Given the description of an element on the screen output the (x, y) to click on. 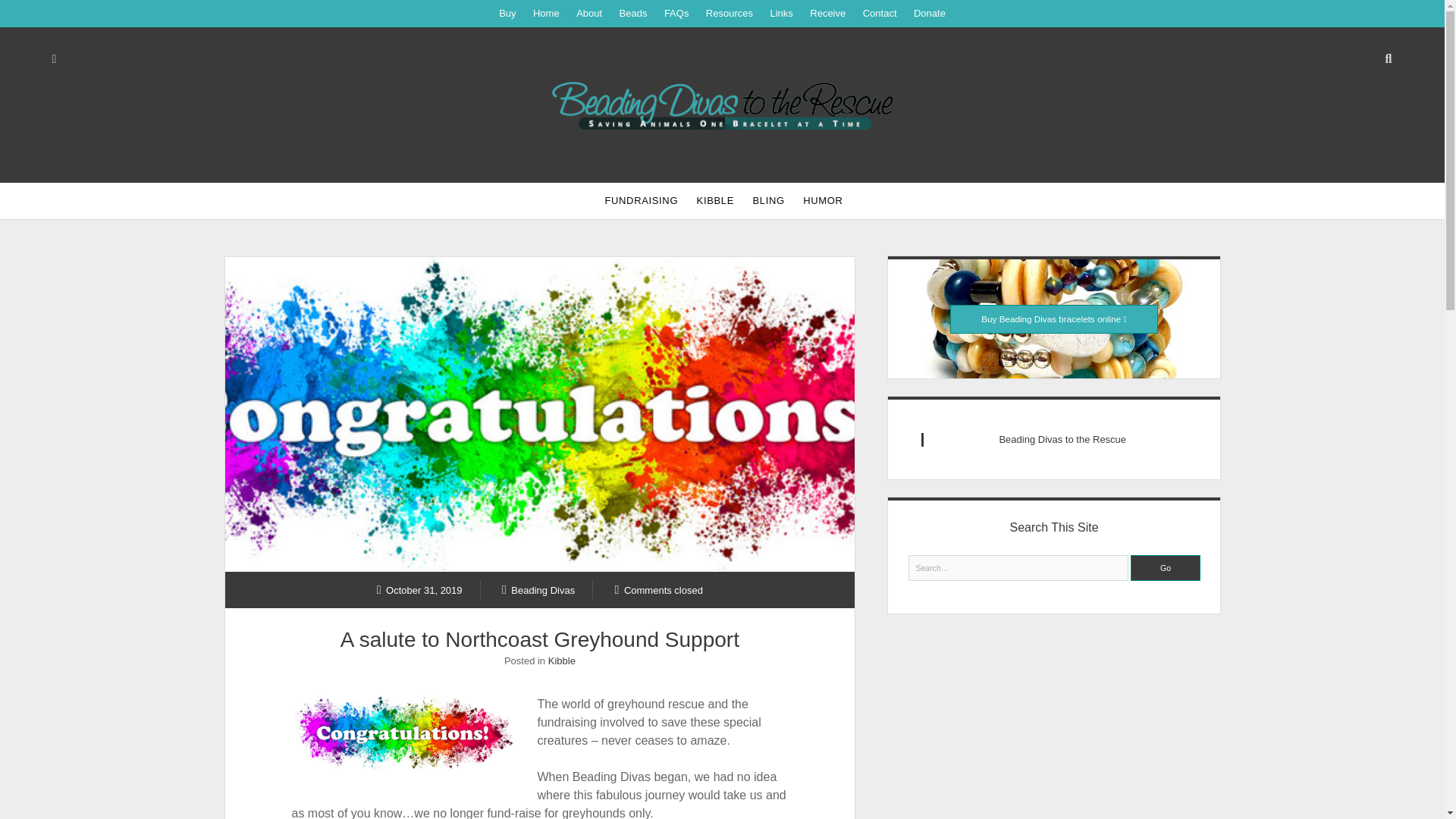
Kibble (561, 660)
Receive (827, 13)
View all posts in Kibble (561, 660)
Go (1165, 567)
Donate (929, 13)
Resources (729, 13)
Home (545, 13)
Posts from October (420, 589)
Go (1165, 567)
Search for: (1018, 567)
